Given the description of an element on the screen output the (x, y) to click on. 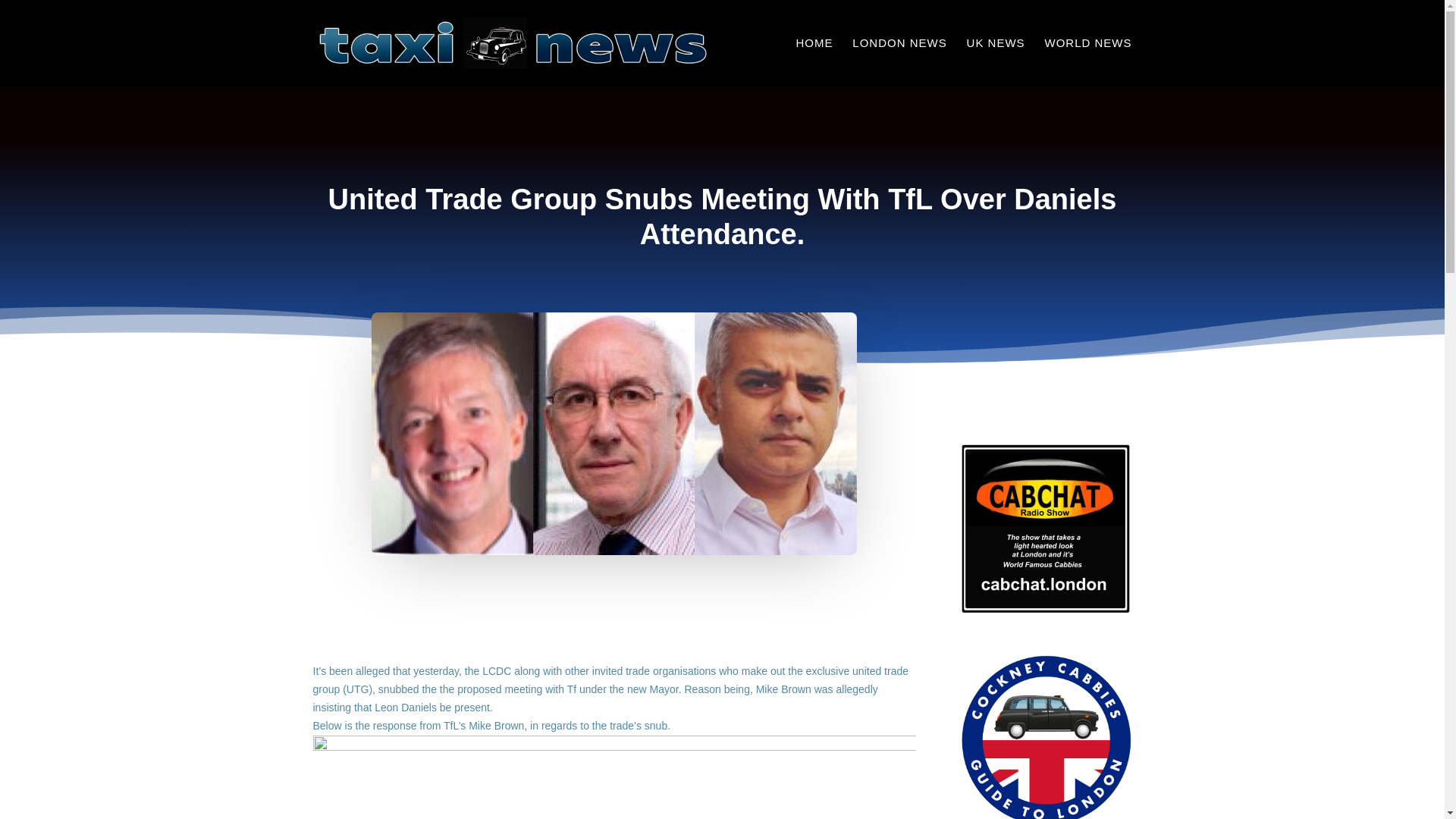
WORLD NEWS (1088, 61)
LONDON NEWS (898, 61)
UK NEWS (995, 61)
Cab Chat New Pic 2 (1045, 528)
